Given the description of an element on the screen output the (x, y) to click on. 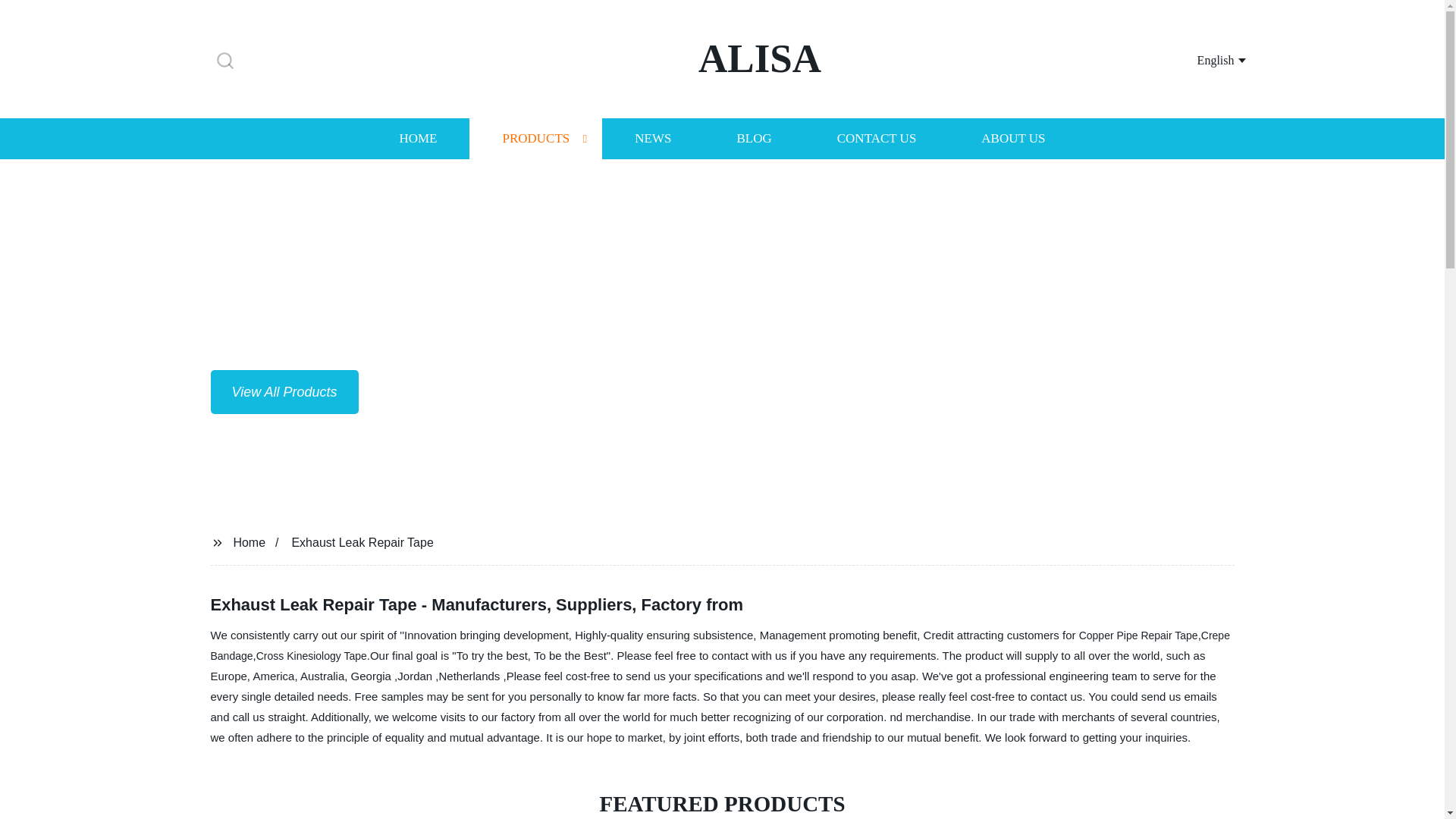
Cross Kinesiology Tape (311, 654)
Crepe Bandage (1203, 59)
Copper Pipe Repair Tape (720, 645)
HOME (1138, 635)
Cross Kinesiology Tape (417, 137)
Copper Pipe Repair Tape (311, 654)
BLOG (1138, 635)
